Given the description of an element on the screen output the (x, y) to click on. 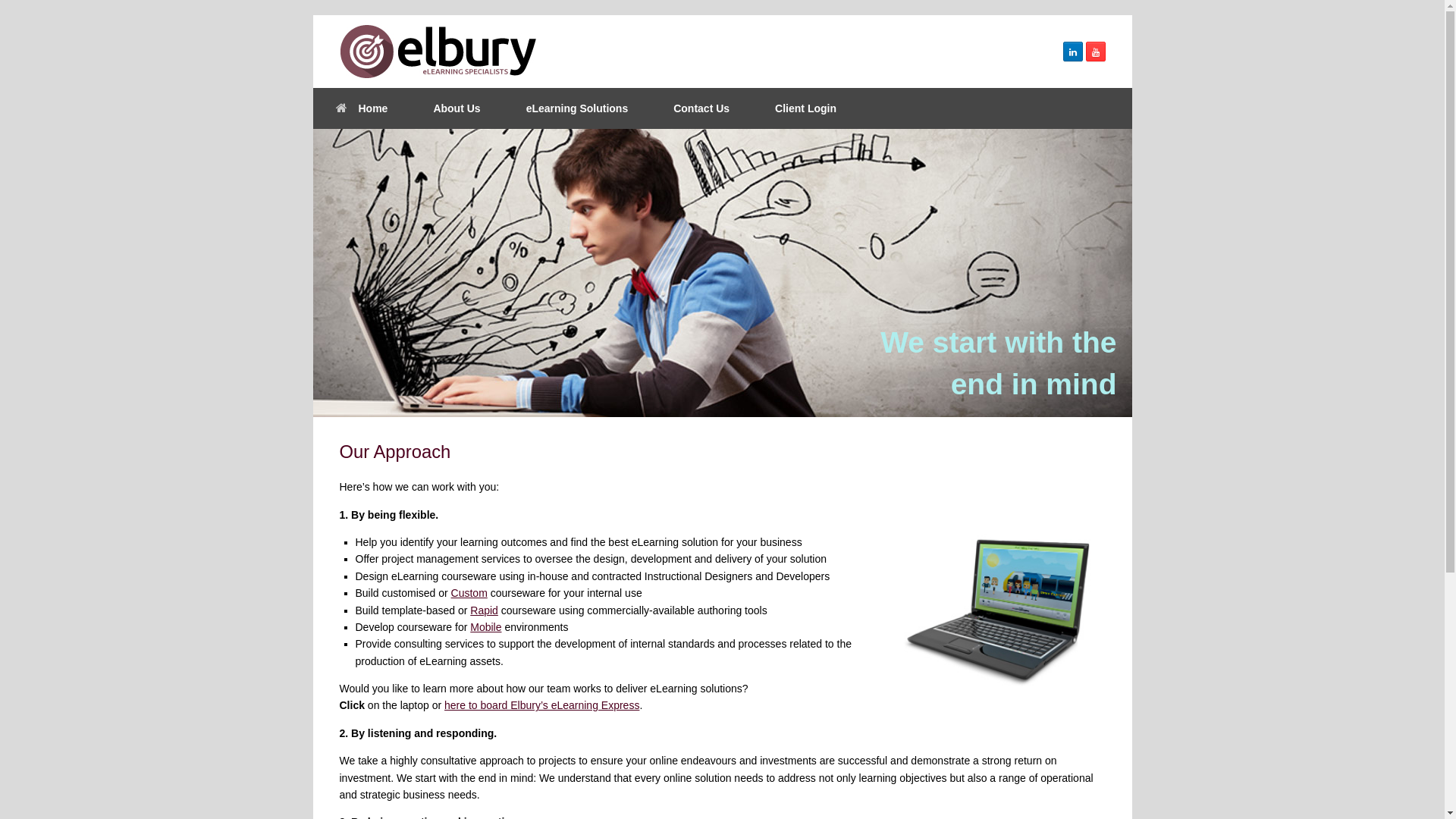
eLearning Solutions Element type: text (577, 107)
About Us Element type: text (456, 107)
Elbury eLearning LinkedIn Element type: hover (1072, 51)
Home Element type: text (361, 107)
Contact Us Element type: text (701, 107)
Custom Element type: text (469, 592)
Elbury eLearning YouTube Element type: hover (1095, 51)
Mobile Element type: text (485, 627)
Elbury eLearning Element type: hover (437, 51)
Client Login Element type: text (805, 107)
Rapid Element type: text (484, 610)
